Given the description of an element on the screen output the (x, y) to click on. 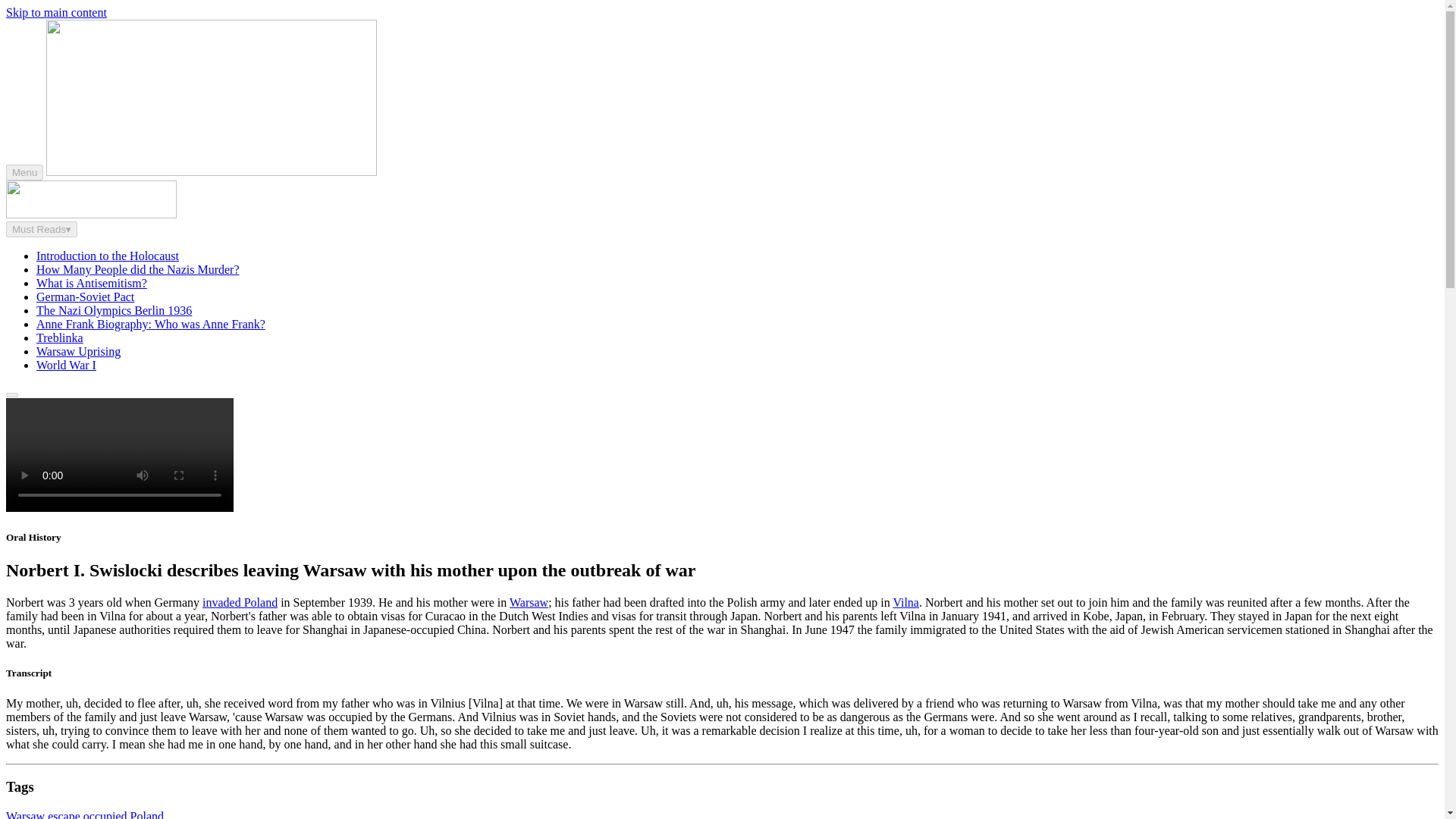
Menu (24, 172)
German-Soviet Pact (84, 296)
How Many People did the Nazis Murder? (138, 269)
What is Antisemitism? (91, 282)
Introduction to the Holocaust (107, 255)
World War I (66, 364)
Anne Frank Biography: Who was Anne Frank? (150, 323)
The Nazi Olympics Berlin 1936 (114, 309)
Treblinka (59, 337)
Skip to main content (55, 11)
